Given the description of an element on the screen output the (x, y) to click on. 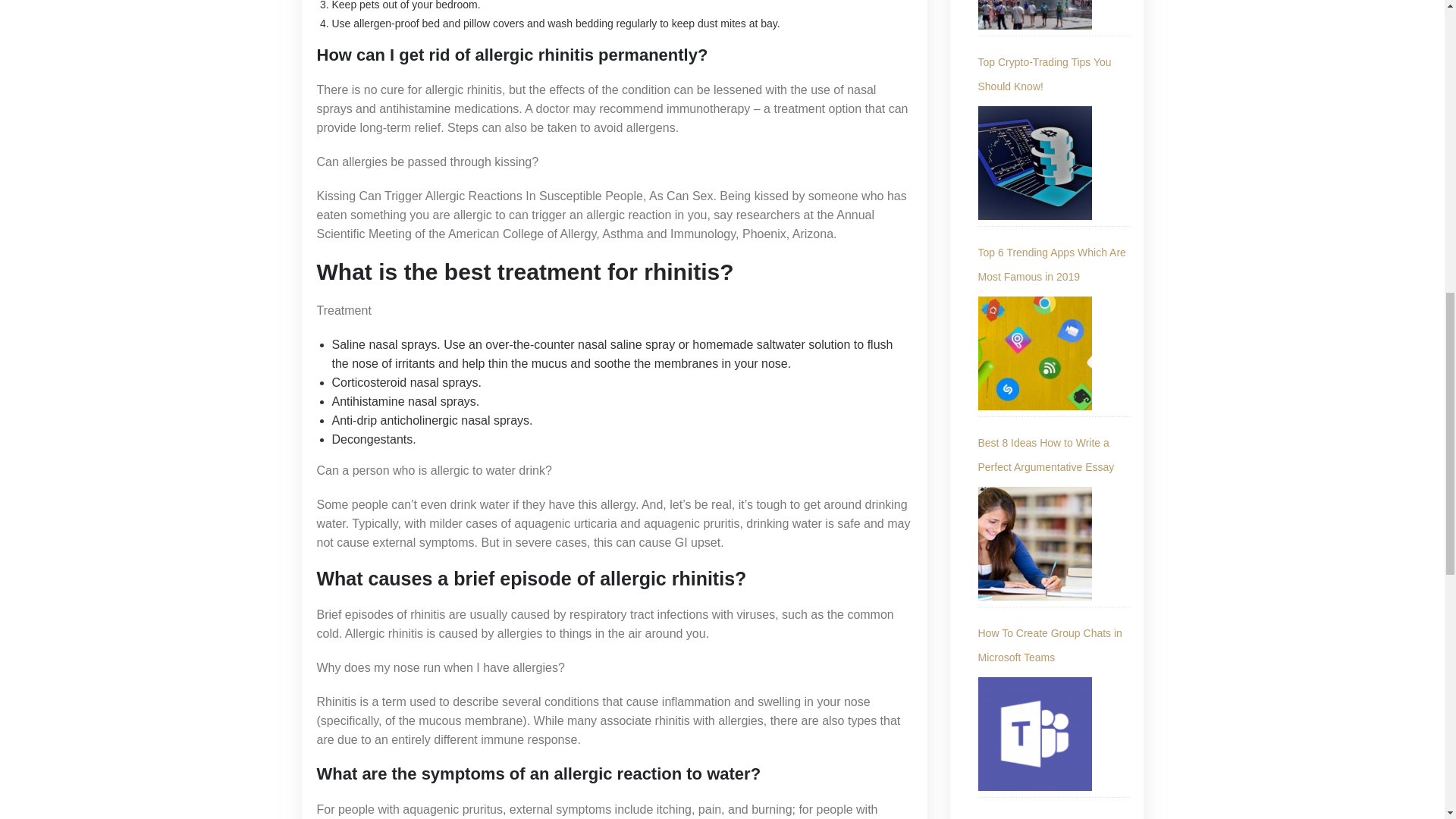
Ways To Create An Ideal Sleep Environment (1054, 815)
Exciting Experiences in Chicago in 2019 (1035, 14)
Best 8 Ideas How to Write a Perfect Argumentative Essay (1035, 543)
Top Crypto-Trading Tips You Should Know!  (1054, 73)
Best 8 Ideas How to Write a Perfect Argumentative Essay (1054, 454)
How To Create Group Chats in Microsoft Teams (1054, 644)
Top 6 Trending Apps Which Are Most Famous in 2019 (1035, 353)
How To Create Group Chats in Microsoft Teams (1035, 734)
Top 6 Trending Apps Which Are Most Famous in 2019 (1054, 264)
